Given the description of an element on the screen output the (x, y) to click on. 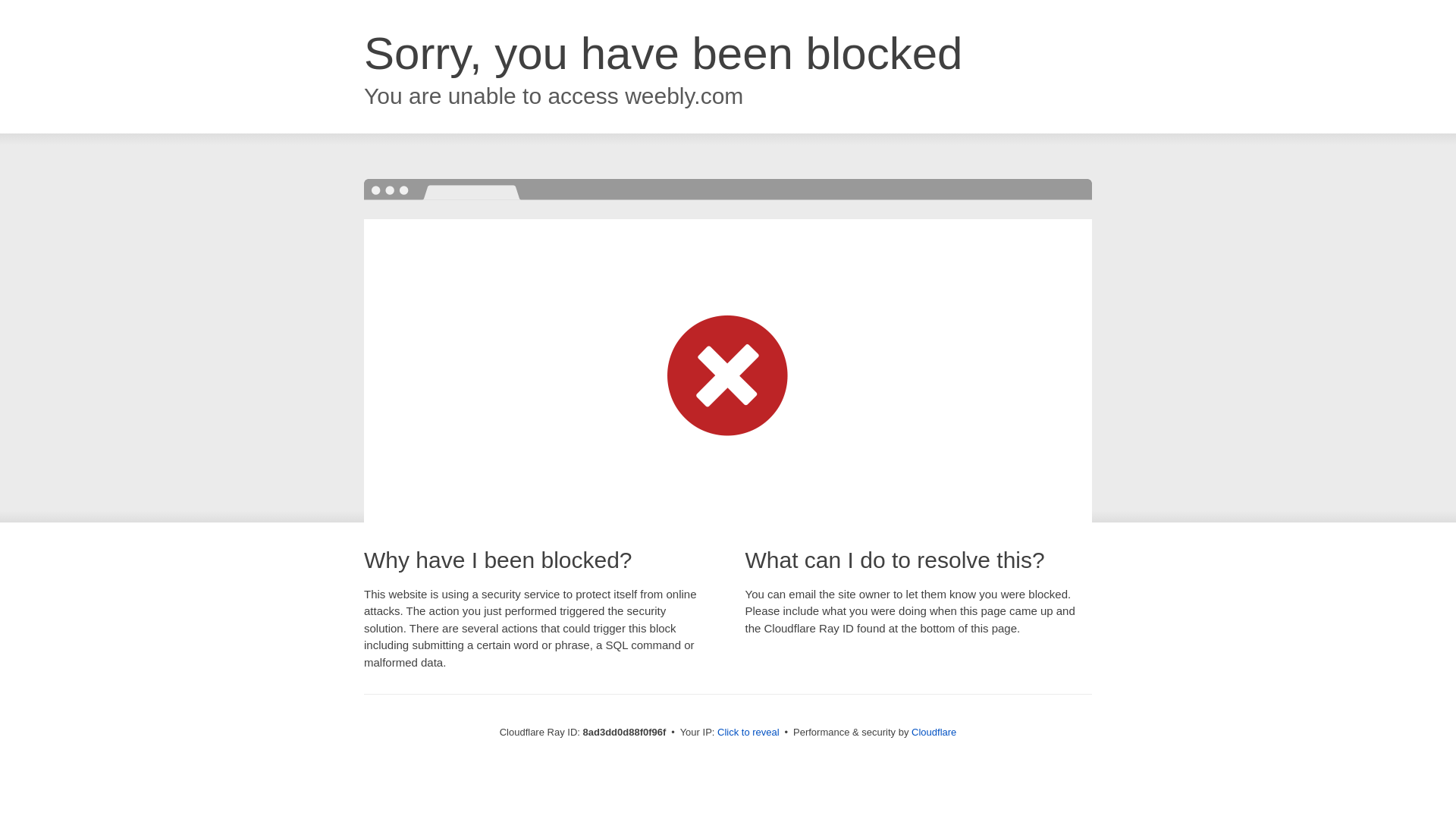
Cloudflare (933, 731)
Click to reveal (747, 732)
